Given the description of an element on the screen output the (x, y) to click on. 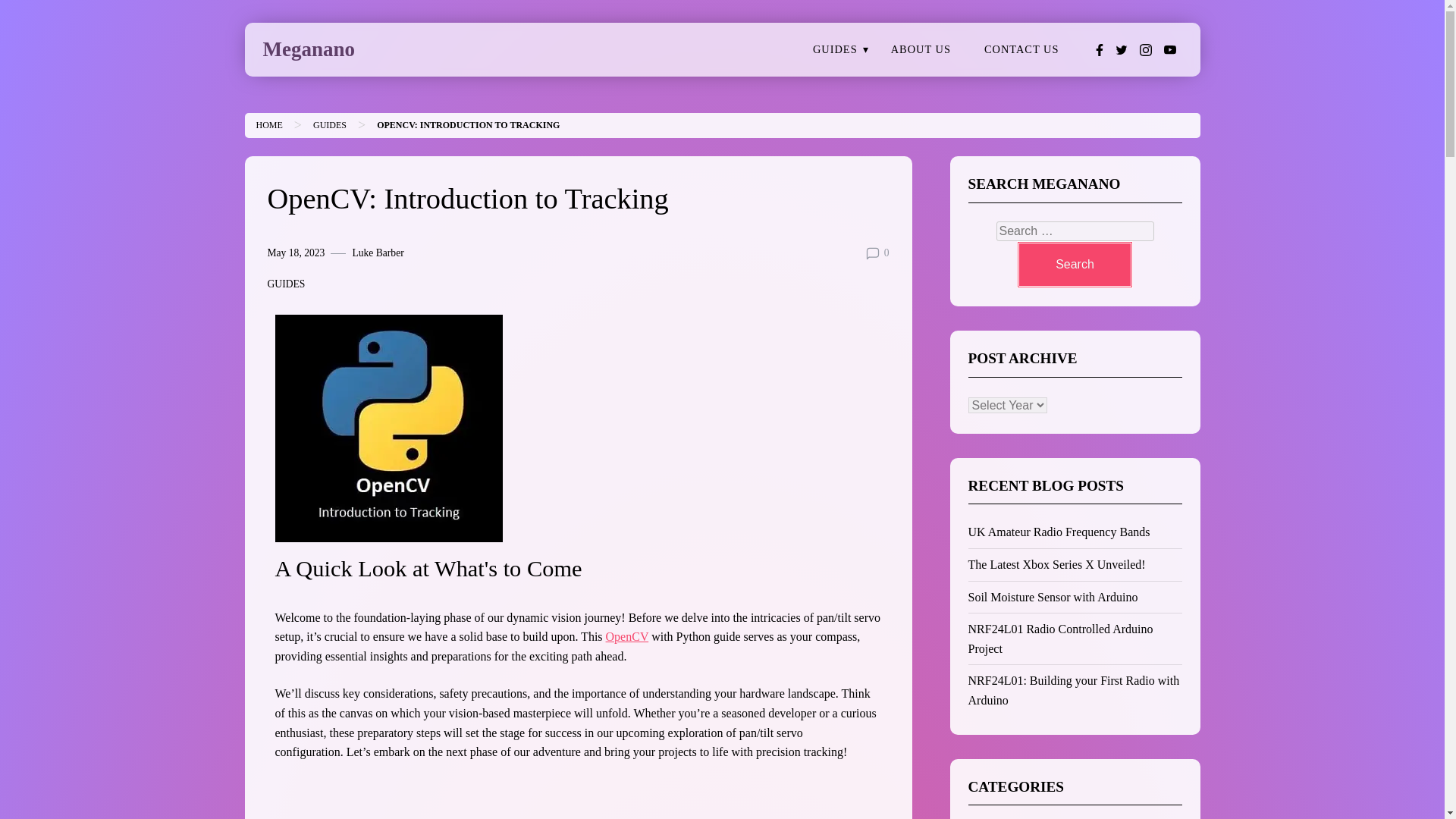
ABOUT US (921, 49)
Meganano (308, 48)
GUIDES (285, 284)
May 18, 2023 (295, 252)
GUIDES (329, 124)
Luke Barber (377, 252)
Search (1074, 264)
OpenCV: Introduction to Tracking (468, 124)
Search (1074, 264)
CONTACT US (1021, 49)
